Given the description of an element on the screen output the (x, y) to click on. 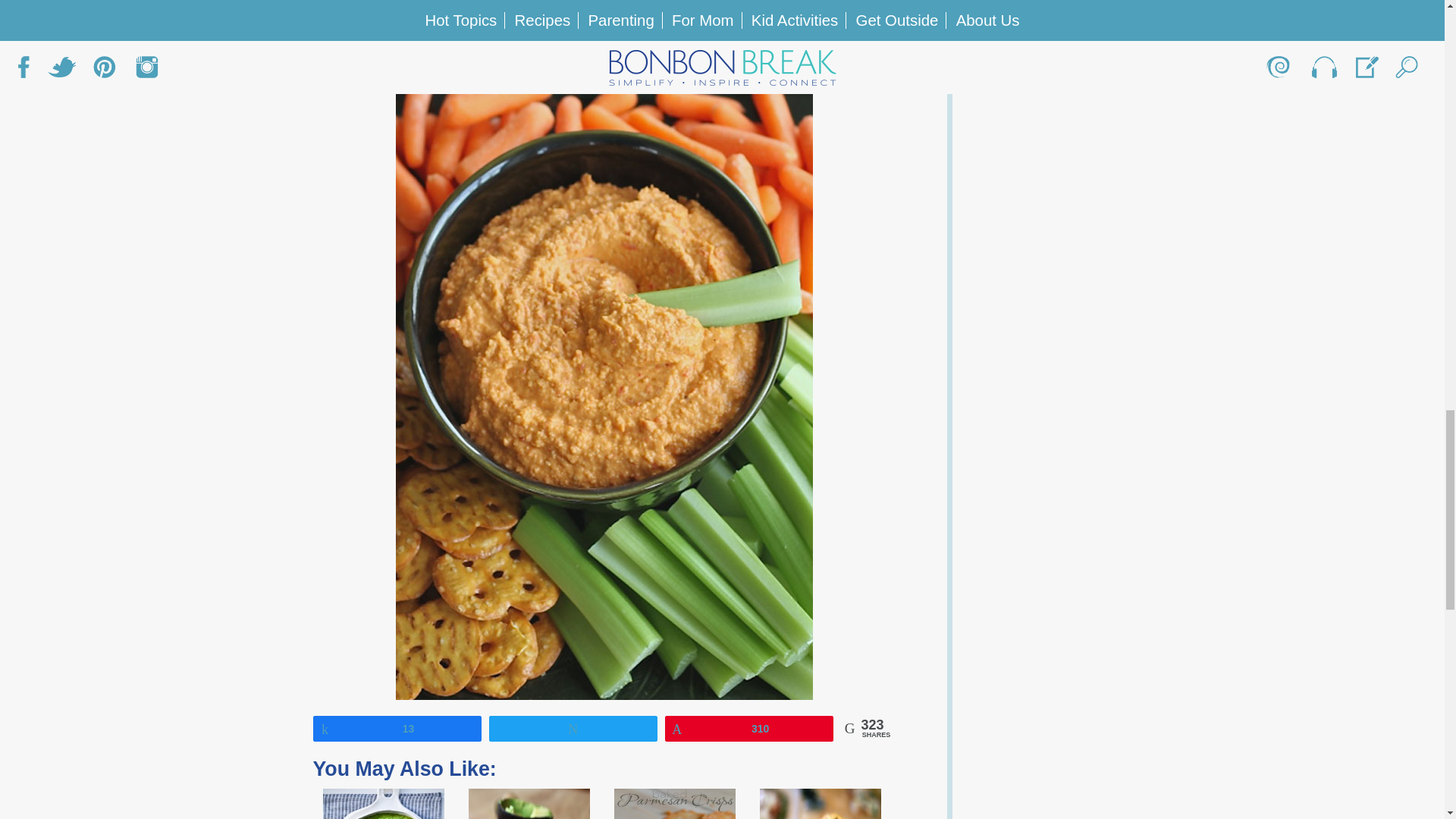
Baked Parmesan Crisps by Under the Table and Dreaming (674, 803)
Baked Parmesan Crisps by Under the Table and Dreaming (674, 803)
13 (397, 727)
Lemony Spinach Hummus (383, 803)
Lemony Spinach Hummus (383, 803)
310 (748, 727)
